Given the description of an element on the screen output the (x, y) to click on. 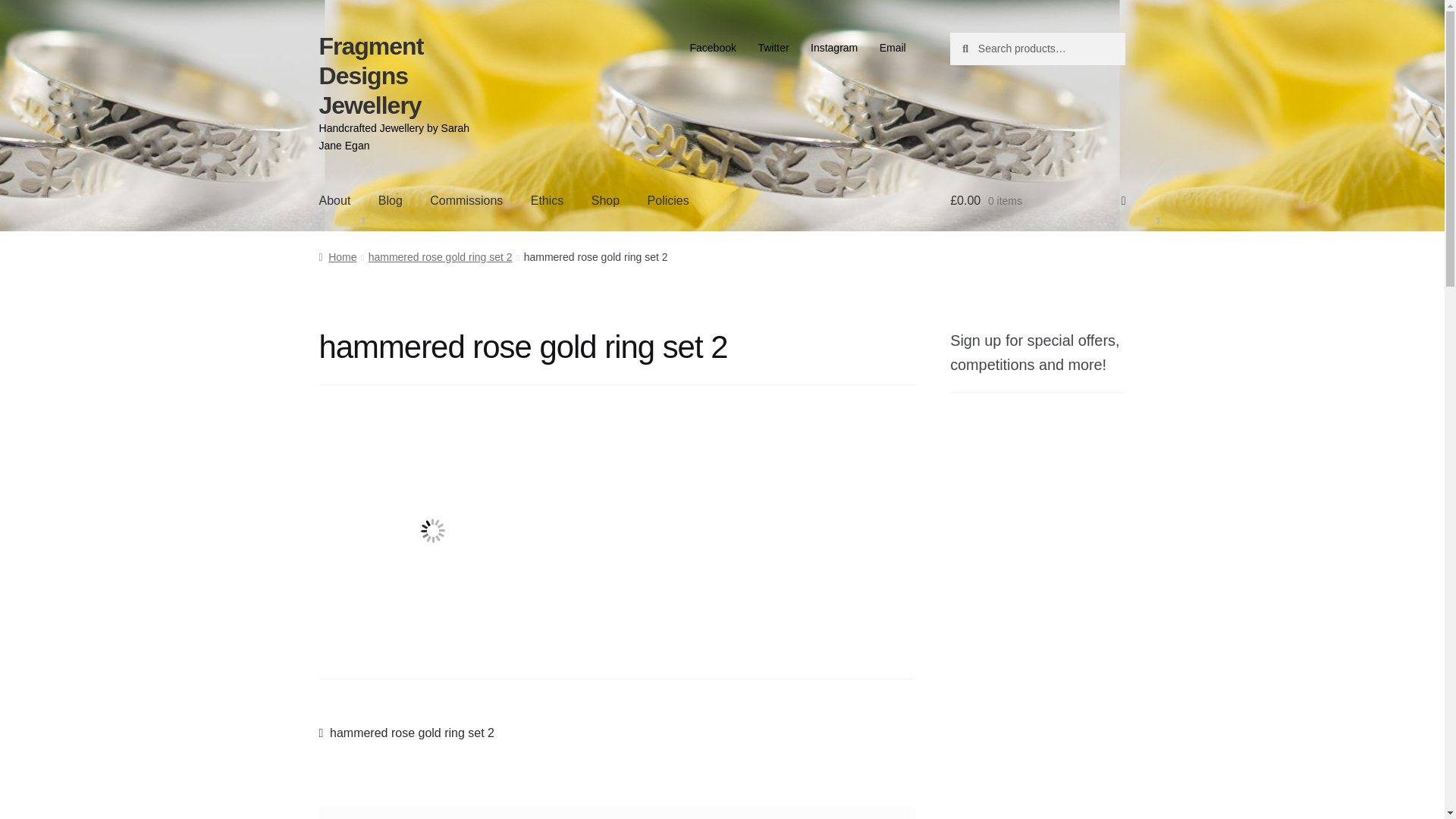
Twitter (772, 47)
Keep up to date with Twitter (772, 47)
Follow on Facebook (712, 47)
Facebook (712, 47)
Instagram (834, 47)
Commissions (406, 732)
Home (466, 200)
Fragment Designs Jewellery (337, 256)
View your shopping cart (370, 75)
Ethics (1037, 200)
Skip to navigation (547, 200)
About (667, 200)
Search (334, 200)
